Given the description of an element on the screen output the (x, y) to click on. 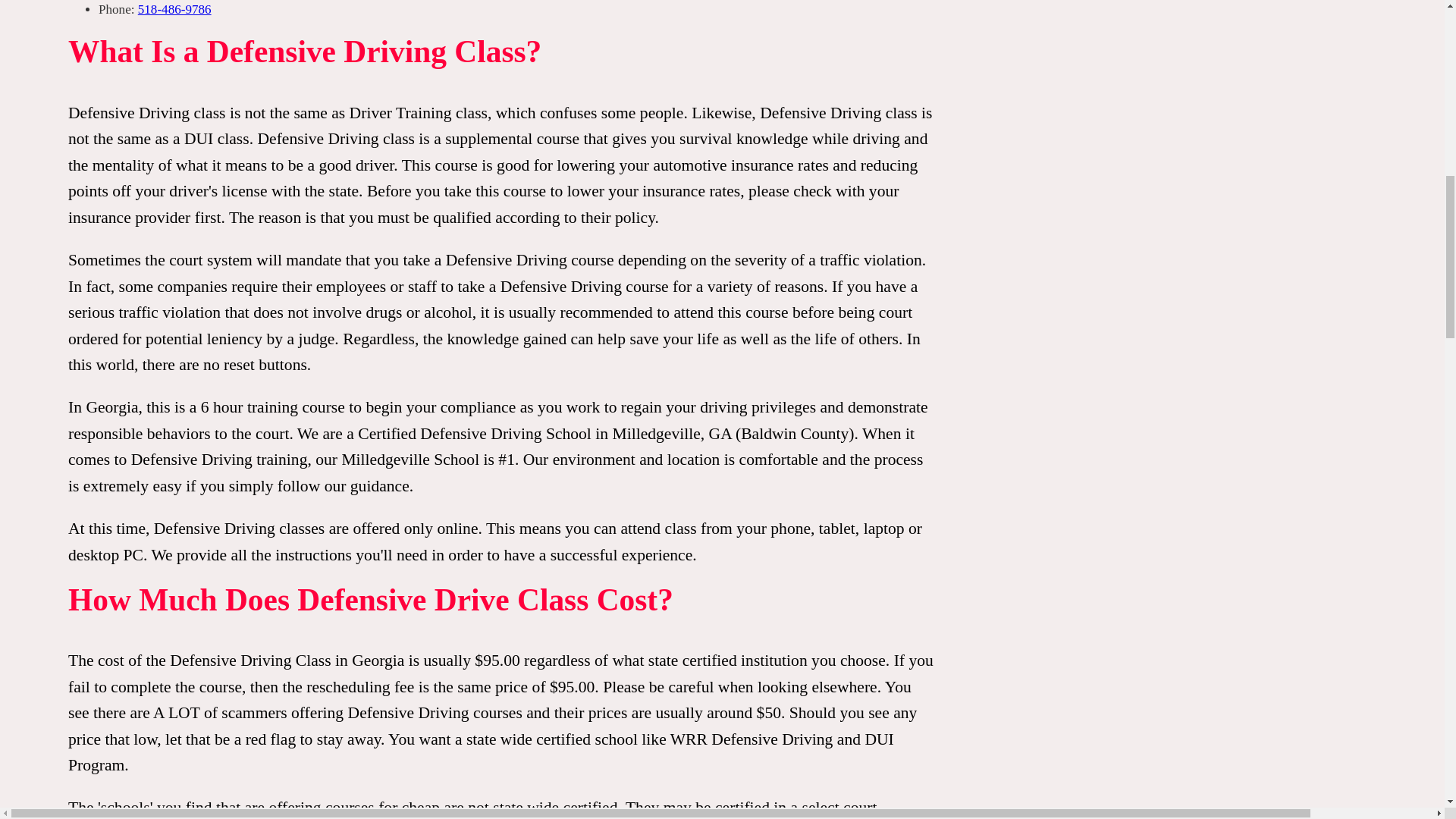
DUI class (216, 138)
518-486-9786 (174, 9)
What Is a Defensive Driving Class? (762, 58)
